Given the description of an element on the screen output the (x, y) to click on. 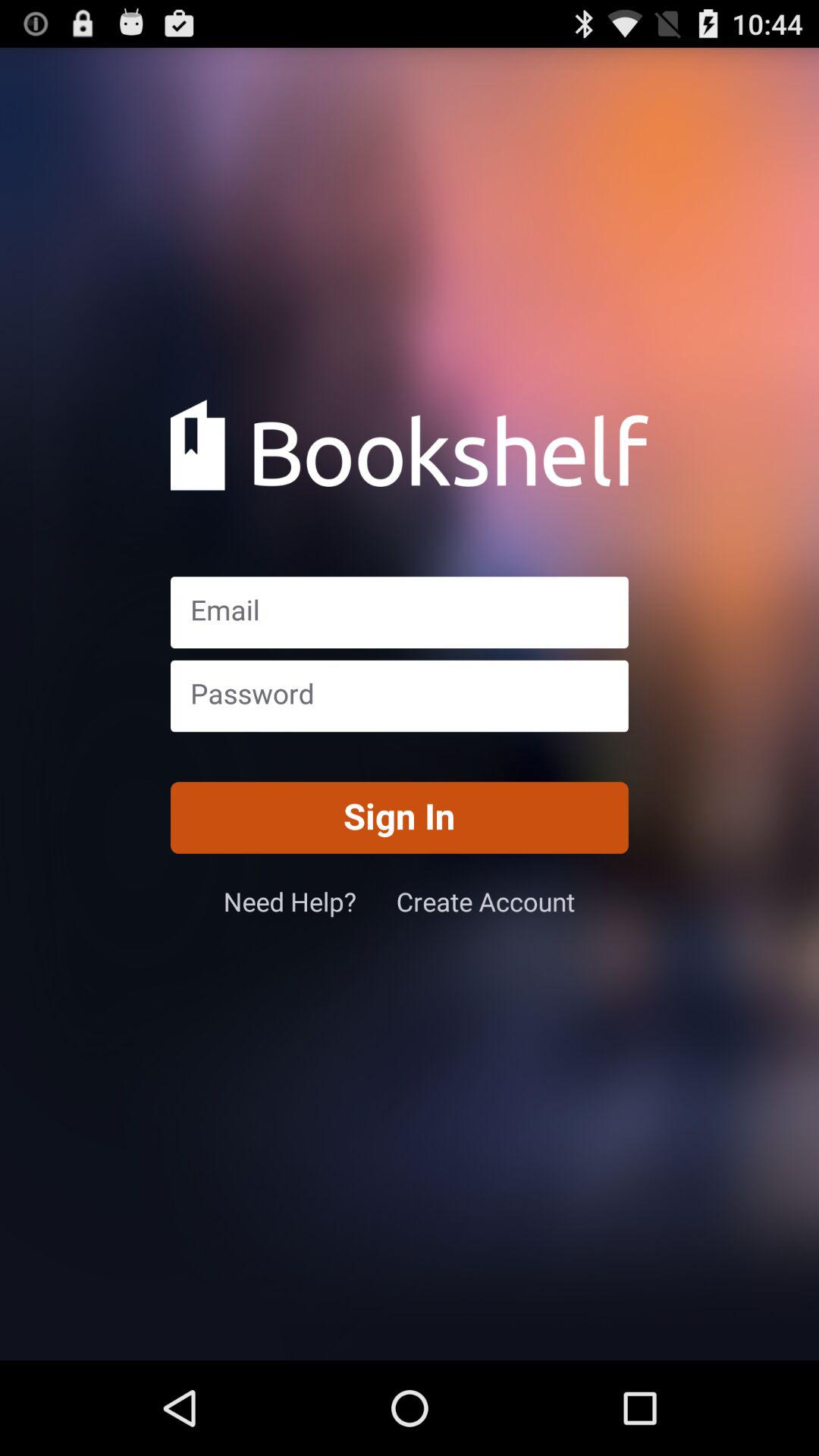
turn off the sign in (399, 817)
